Given the description of an element on the screen output the (x, y) to click on. 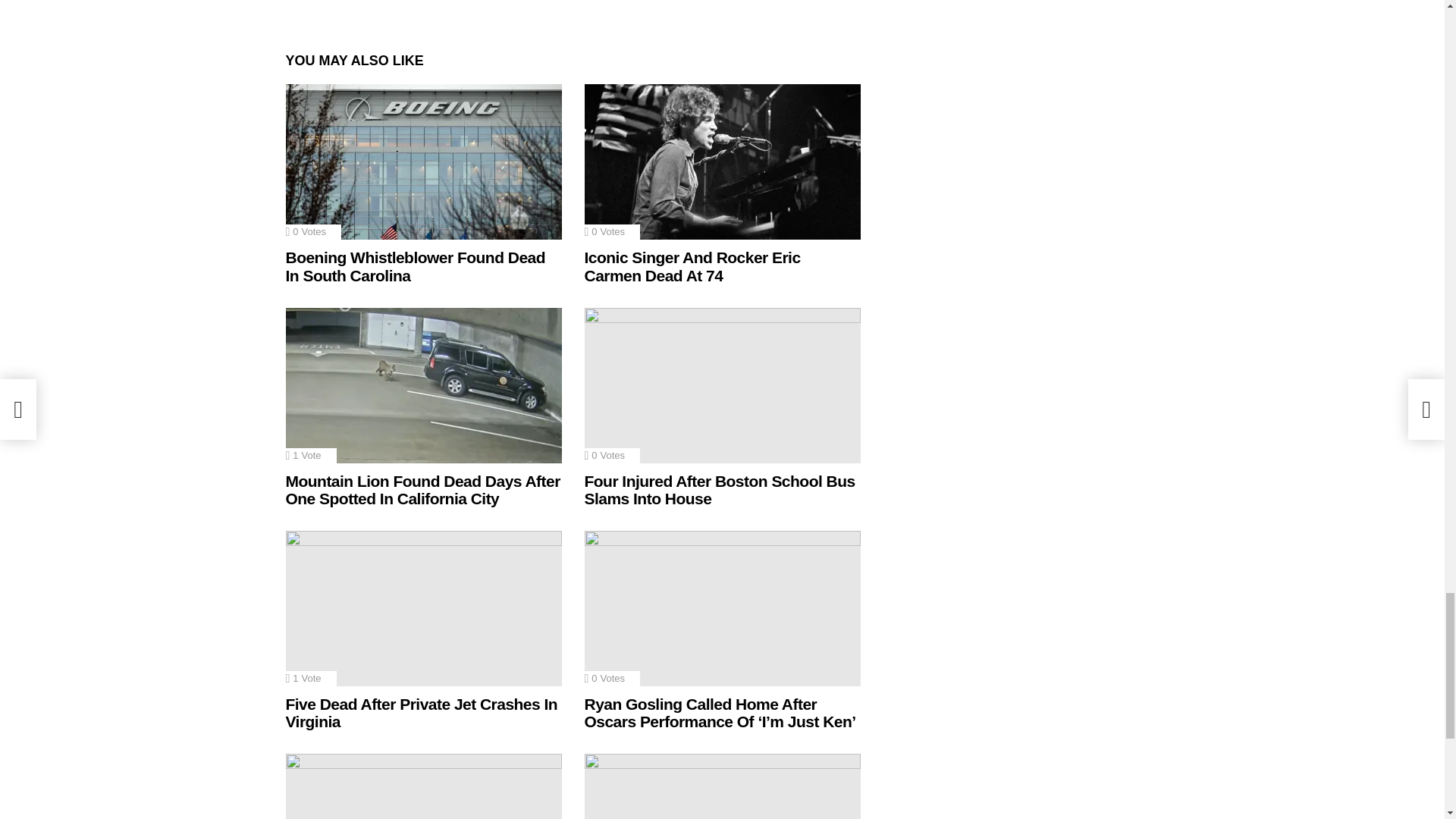
Four Injured After Boston School Bus Slams Into House (721, 385)
Iconic Singer And Rocker Eric Carmen Dead At 74 (721, 161)
Boening Whistleblower Found Dead In South Carolina (414, 266)
Boening Whistleblower Found Dead In South Carolina (422, 161)
Five Dead After Private Jet Crashes In Virginia (422, 608)
Iconic Singer And Rocker Eric Carmen Dead At 74 (691, 266)
